Given the description of an element on the screen output the (x, y) to click on. 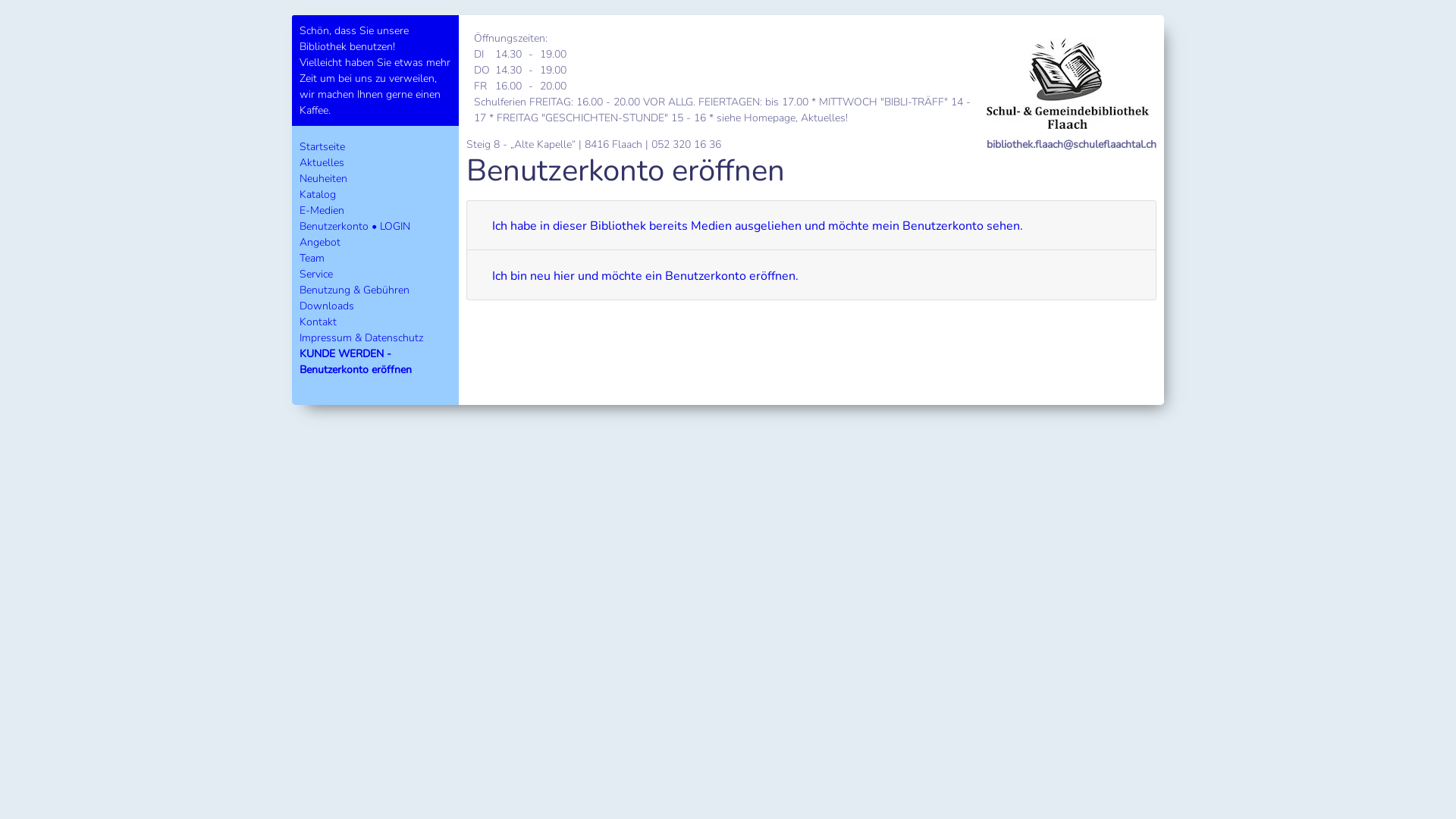
Downloads Element type: text (326, 305)
Aktuelles Element type: text (321, 162)
Angebot Element type: text (319, 242)
Neuheiten Element type: text (323, 178)
Service Element type: text (315, 273)
E-Medien Element type: text (321, 210)
Team Element type: text (311, 258)
Impressum & Datenschutz Element type: text (361, 337)
Katalog Element type: text (317, 194)
bibliothek.flaach@schuleflaachtal.ch Element type: text (1071, 144)
Kontakt Element type: text (317, 321)
Startseite Element type: text (322, 146)
